Given the description of an element on the screen output the (x, y) to click on. 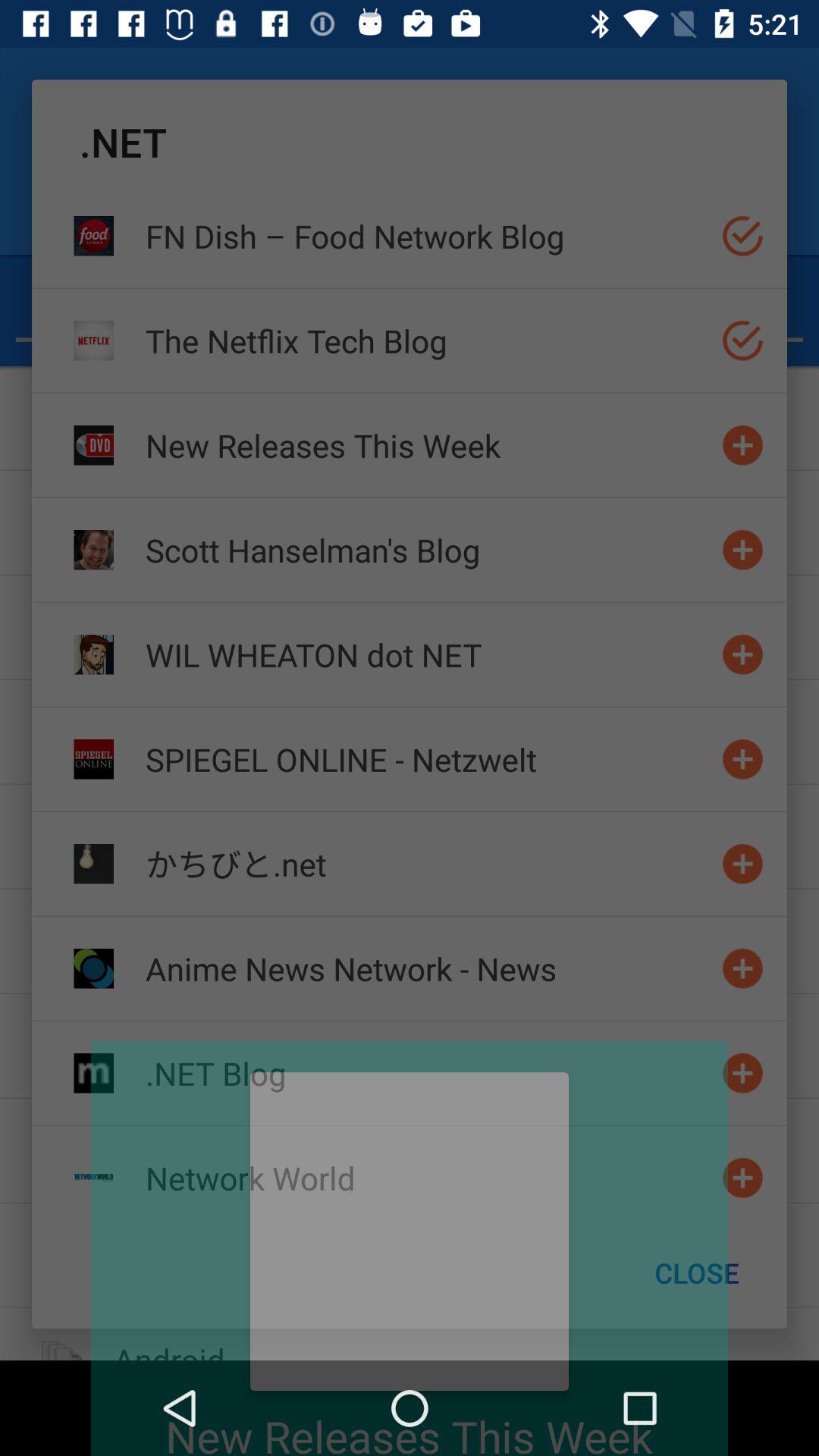
click item below the scott hanselman s (426, 654)
